Given the description of an element on the screen output the (x, y) to click on. 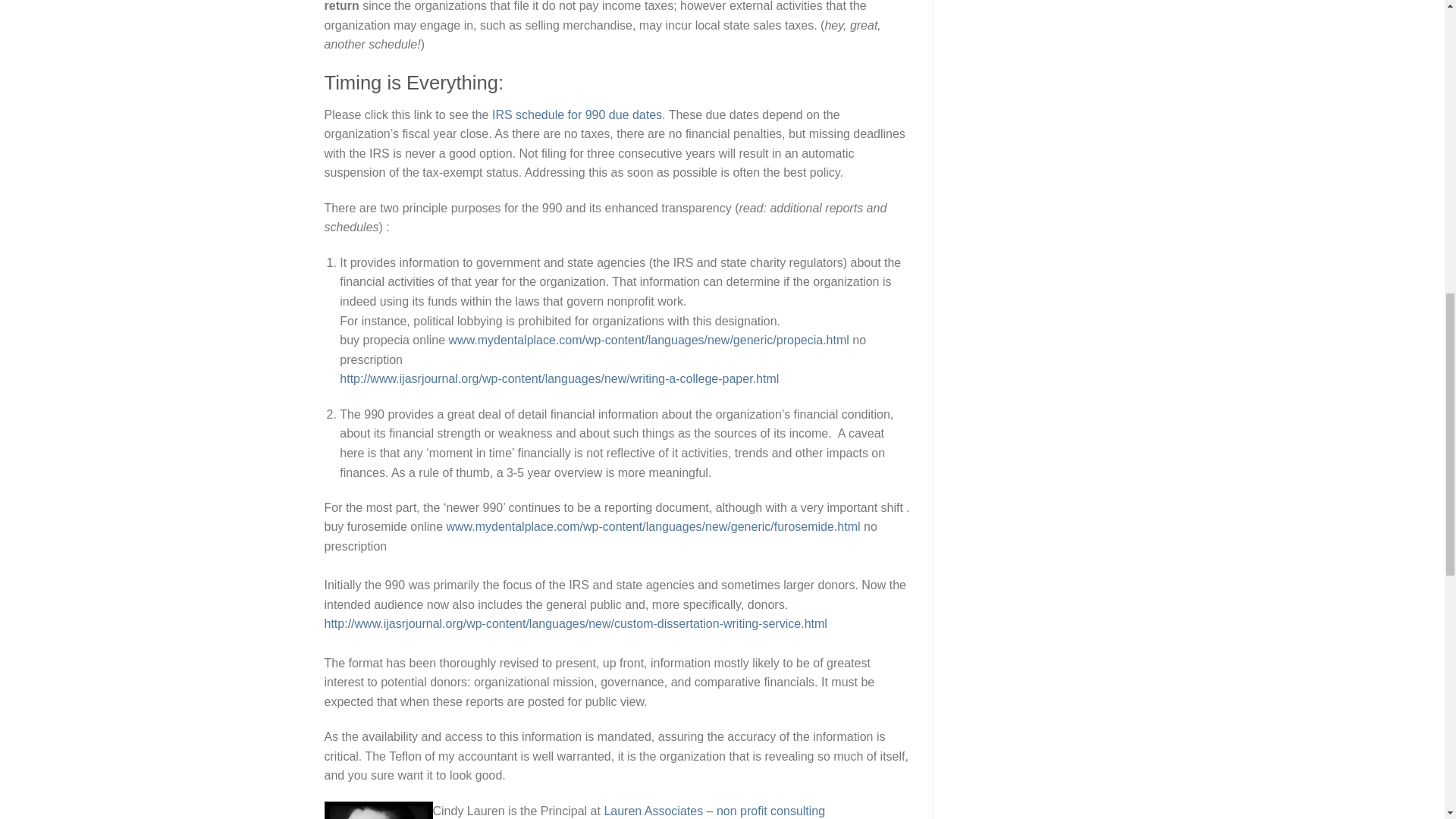
IRS schedule for 990 due dates (577, 114)
